Given the description of an element on the screen output the (x, y) to click on. 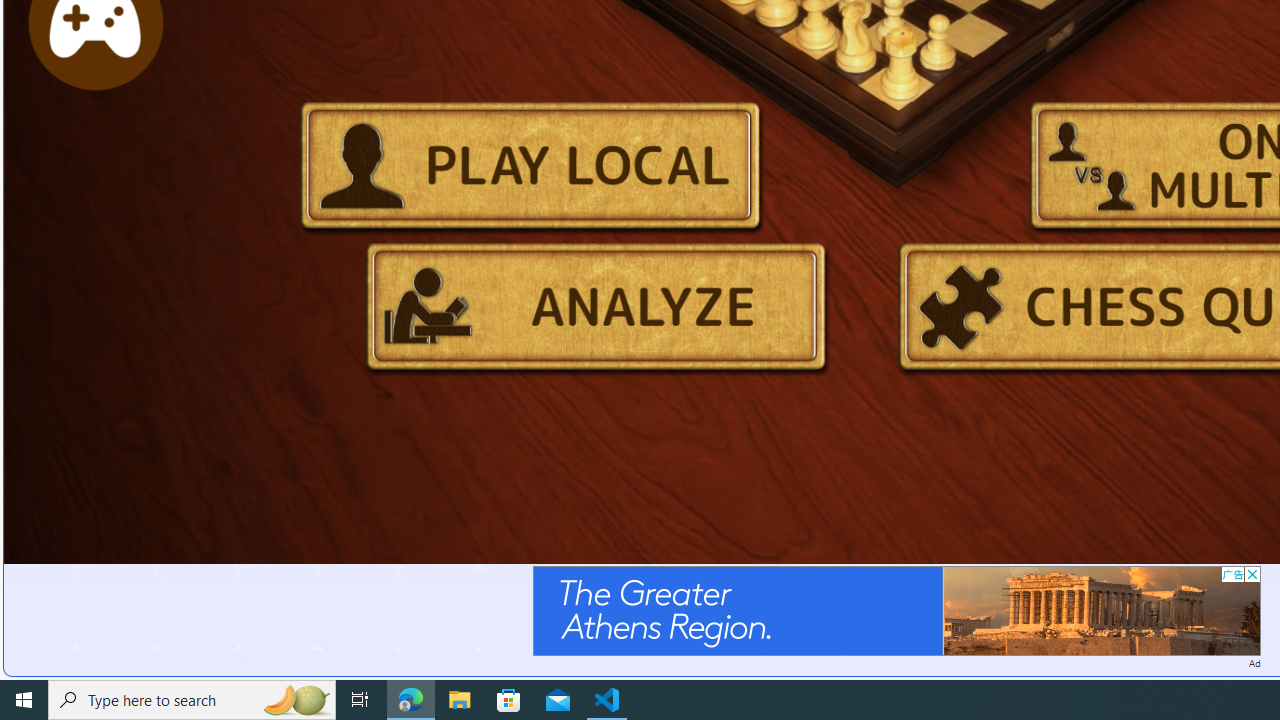
AutomationID: cbb (1252, 574)
Advertisement (896, 610)
Advertisement (896, 610)
